Given the description of an element on the screen output the (x, y) to click on. 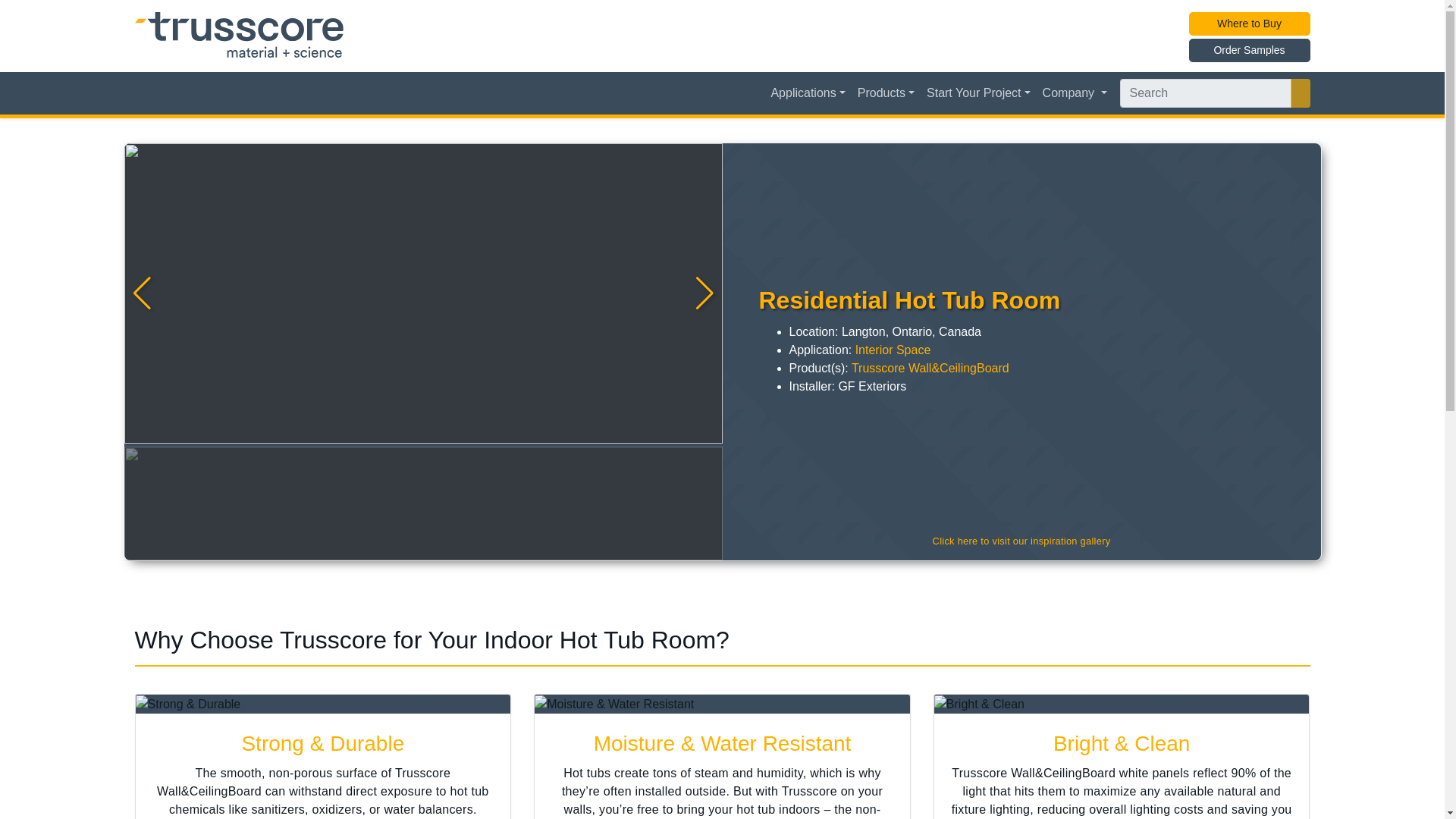
Order Samples (1249, 50)
Applications (807, 92)
Where to Buy (1249, 24)
Products (885, 92)
